Given the description of an element on the screen output the (x, y) to click on. 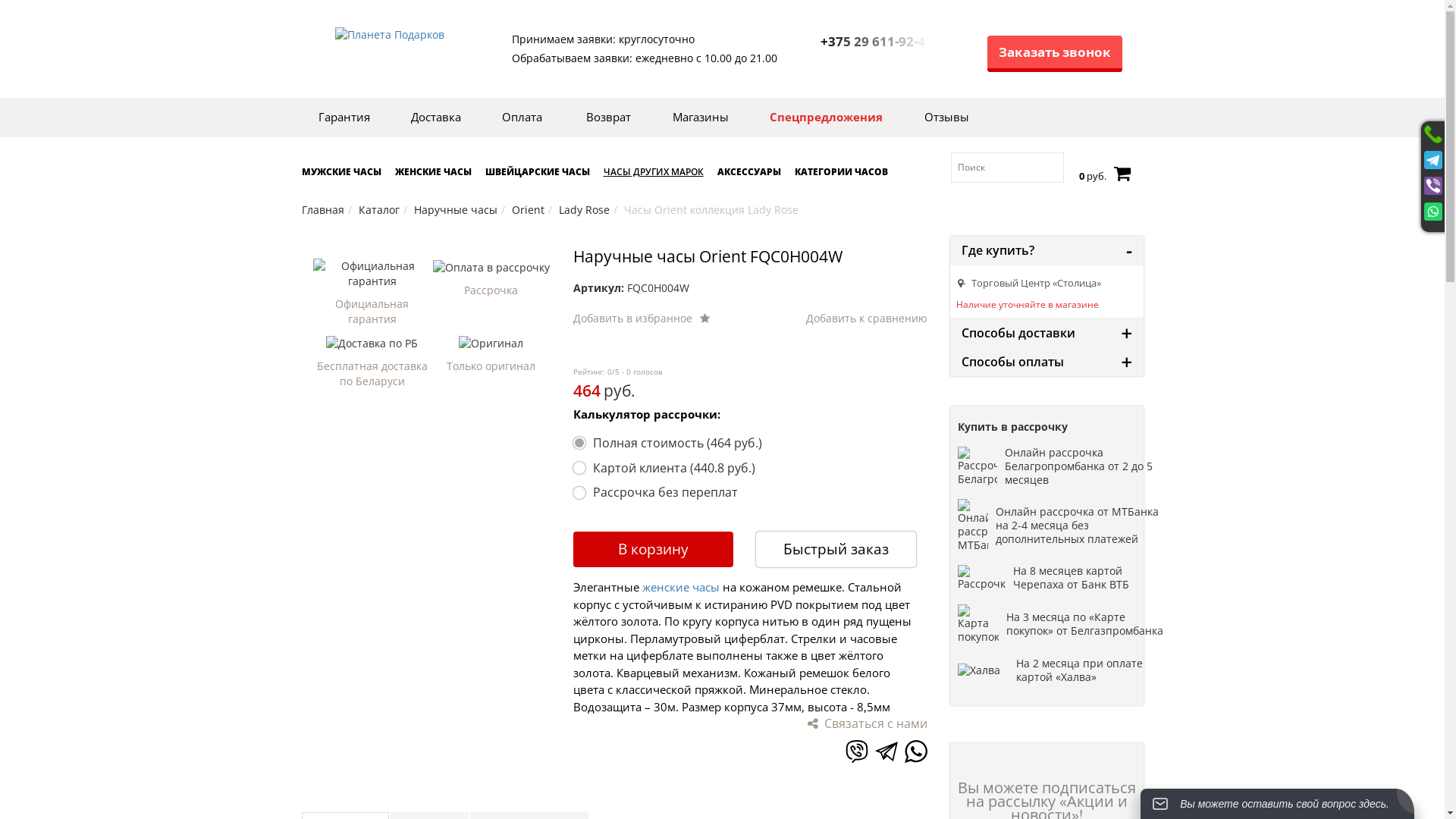
Planeta Podarkov Element type: hover (389, 34)
+375 29 611-92-4 Element type: text (876, 41)
Lady Rose Element type: text (583, 209)
Orient Element type: text (527, 209)
